Given the description of an element on the screen output the (x, y) to click on. 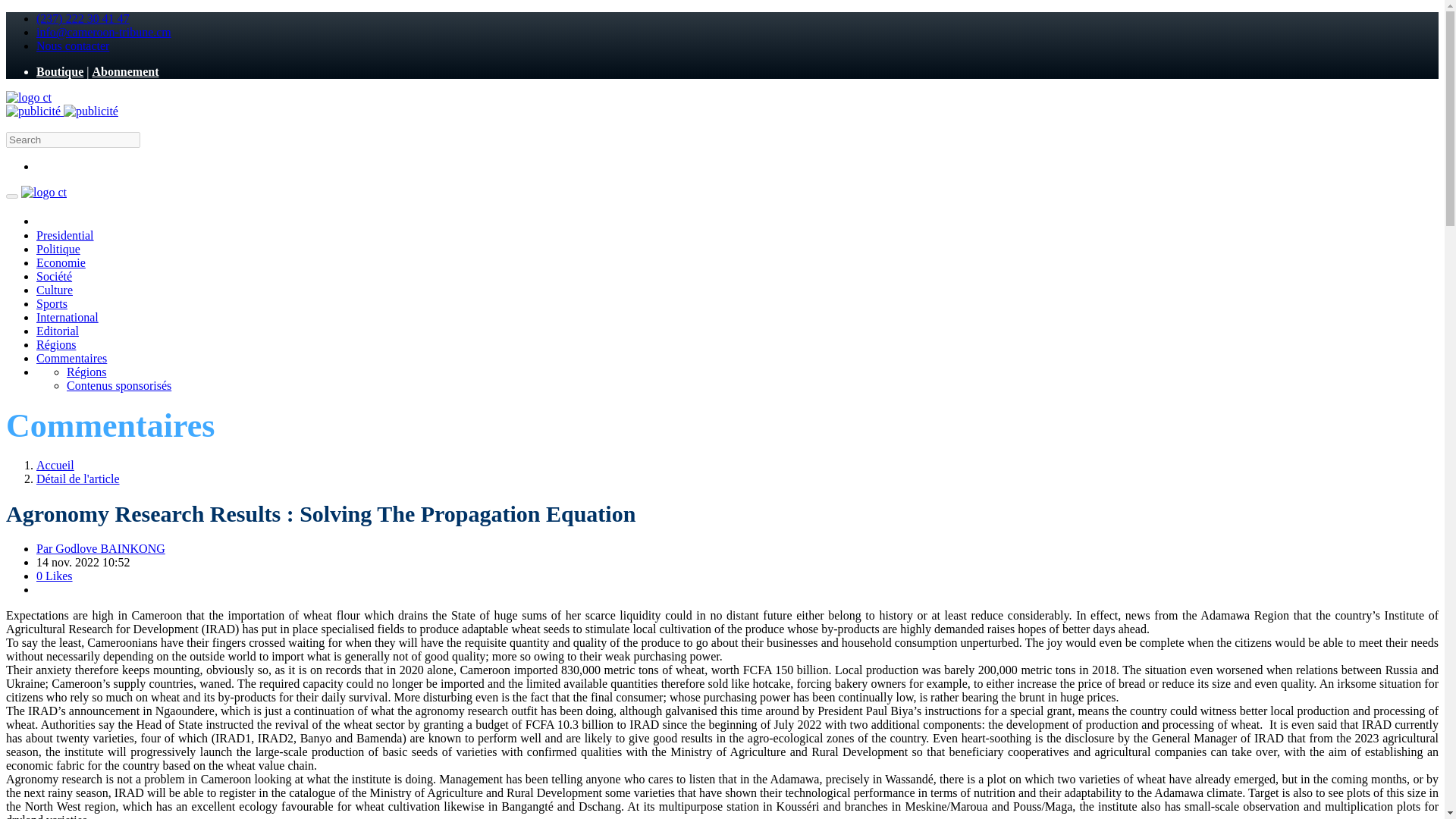
Economie (60, 262)
International (67, 317)
Accueil (55, 464)
Par Godlove BAINKONG (100, 548)
Politique (58, 248)
Nous contacter (72, 45)
0 Likes (54, 575)
Editorial (57, 330)
Sports (51, 303)
Boutique (59, 71)
logo ct (27, 97)
Commentaires (71, 358)
logo ct (43, 192)
Presidential (65, 235)
Abonnement (124, 71)
